Given the description of an element on the screen output the (x, y) to click on. 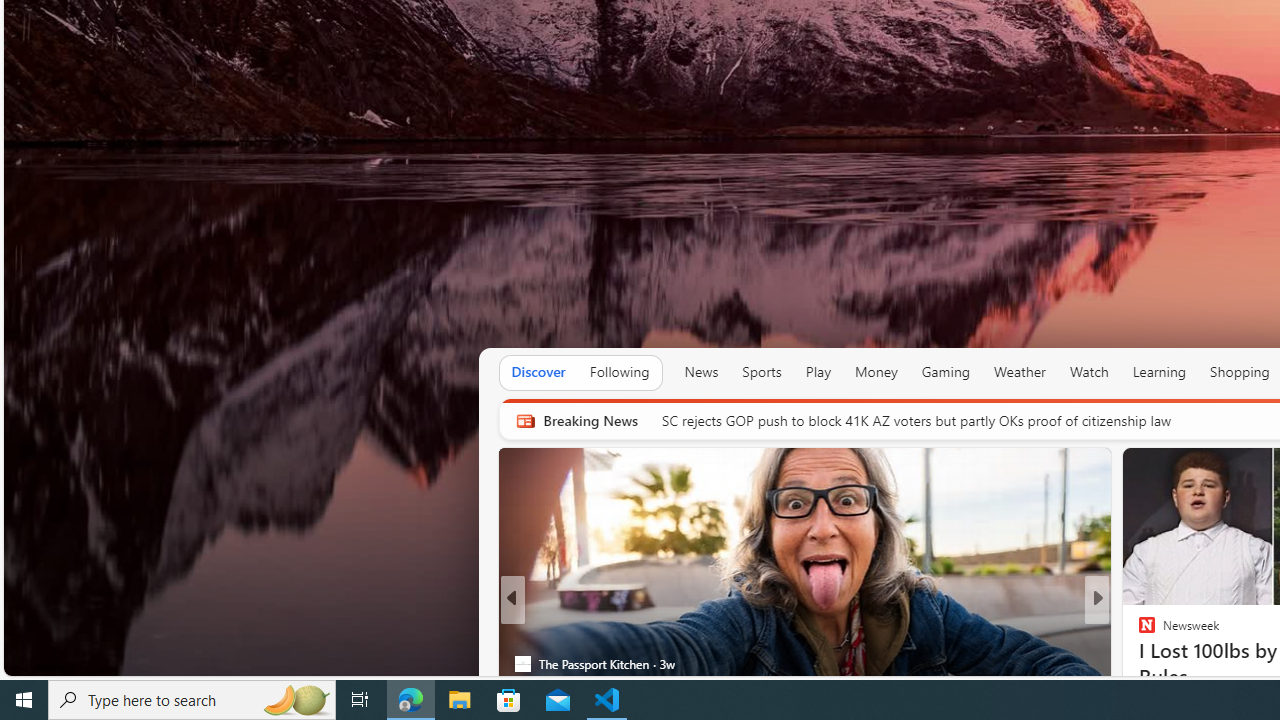
News (701, 372)
Weather (1020, 371)
